Given the description of an element on the screen output the (x, y) to click on. 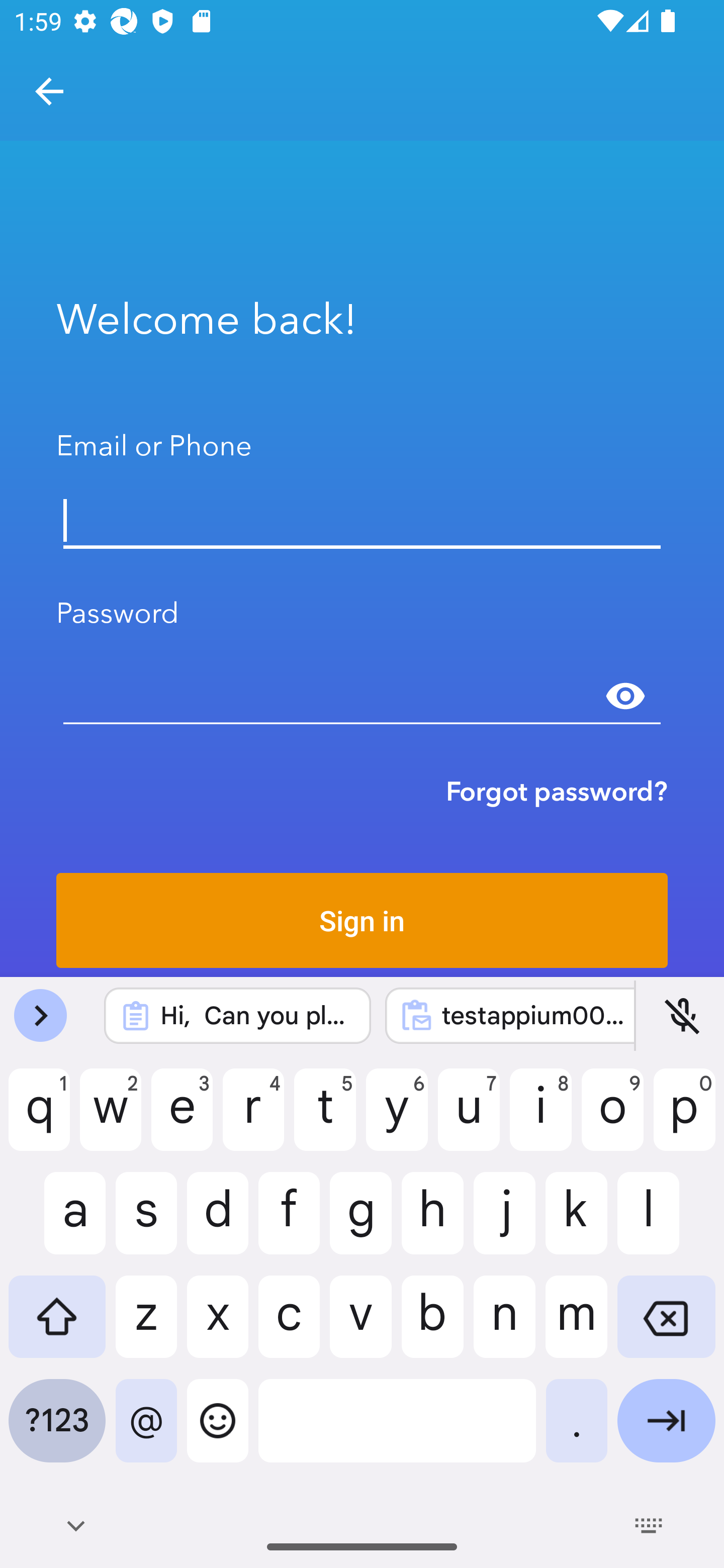
Navigate up (49, 91)
Show password (625, 695)
Forgot password? (556, 790)
Sign in (361, 920)
